Given the description of an element on the screen output the (x, y) to click on. 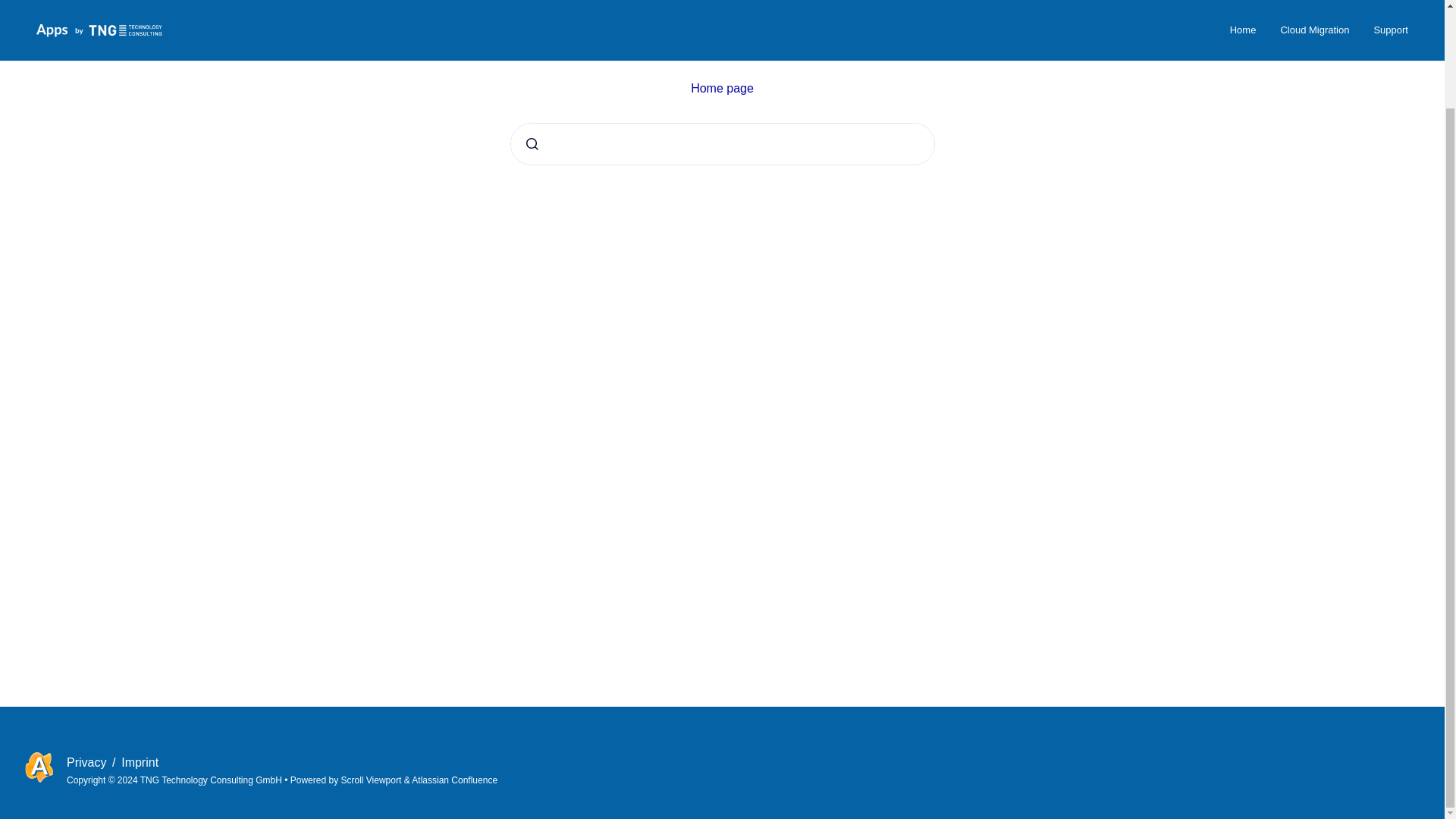
Privacy (88, 762)
Atlassian Confluence (454, 779)
Imprint (139, 762)
Scroll Viewport (371, 779)
Home page (722, 88)
